Given the description of an element on the screen output the (x, y) to click on. 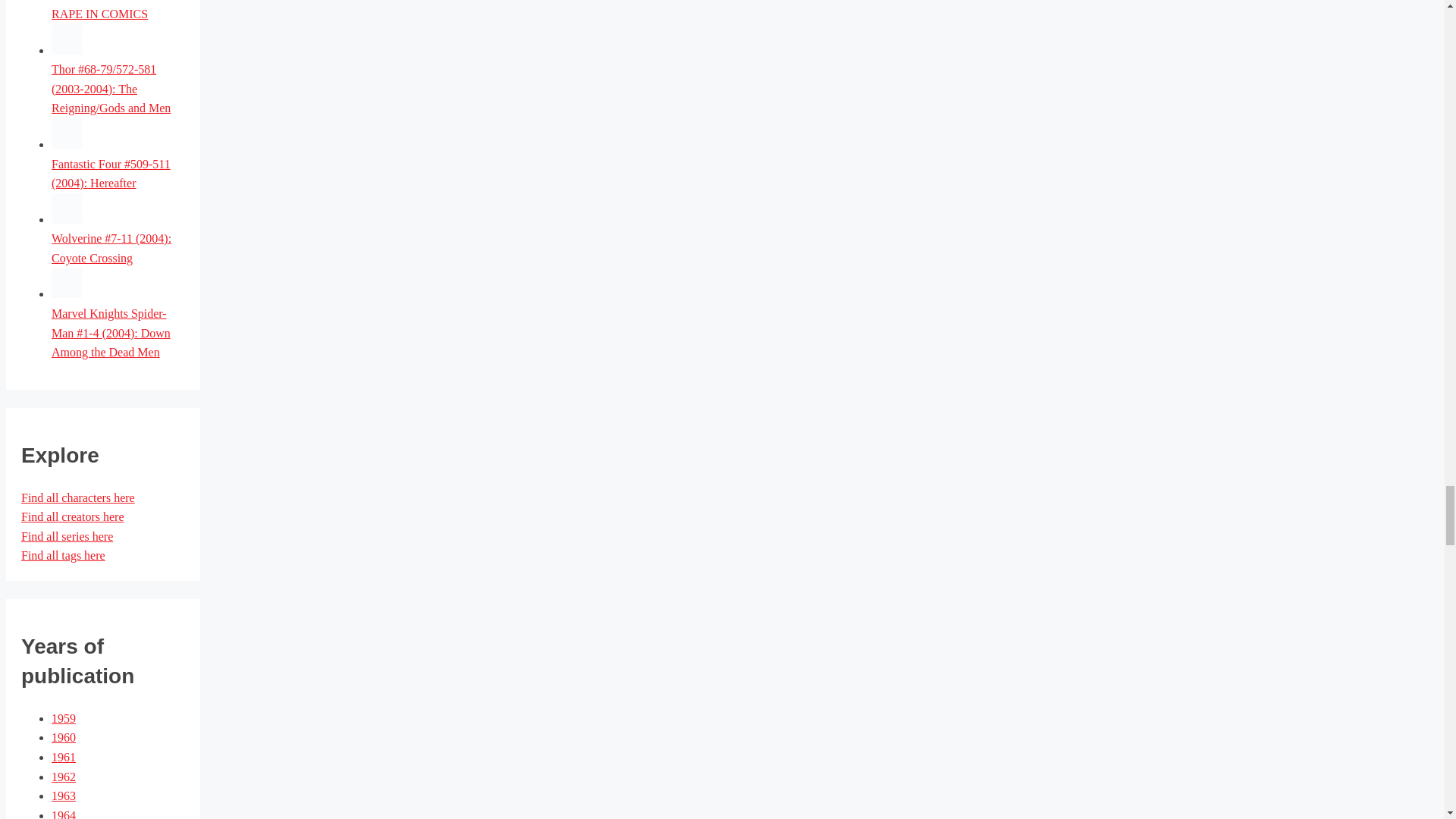
RAPE IN COMICS (99, 13)
RAPE IN COMICS (99, 13)
